Given the description of an element on the screen output the (x, y) to click on. 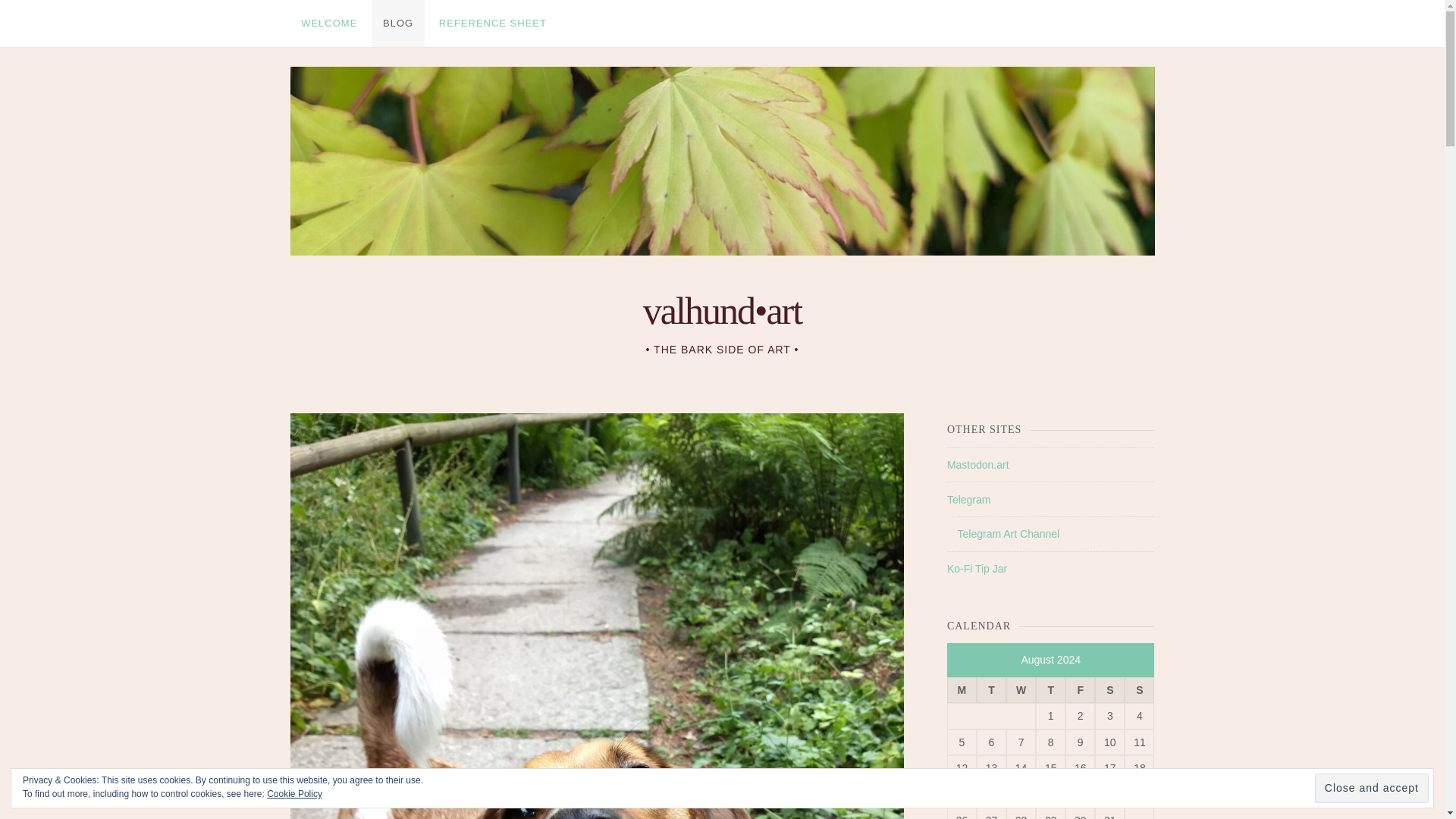
Friday (1079, 689)
Tuesday (991, 689)
Thursday (1050, 689)
Close and accept (1371, 788)
Ko-Fi Tip Jar (977, 568)
REFERENCE SHEET (492, 23)
Close and accept (1371, 788)
Search (41, 15)
Sunday (1139, 689)
Wednesday (1020, 689)
